Given the description of an element on the screen output the (x, y) to click on. 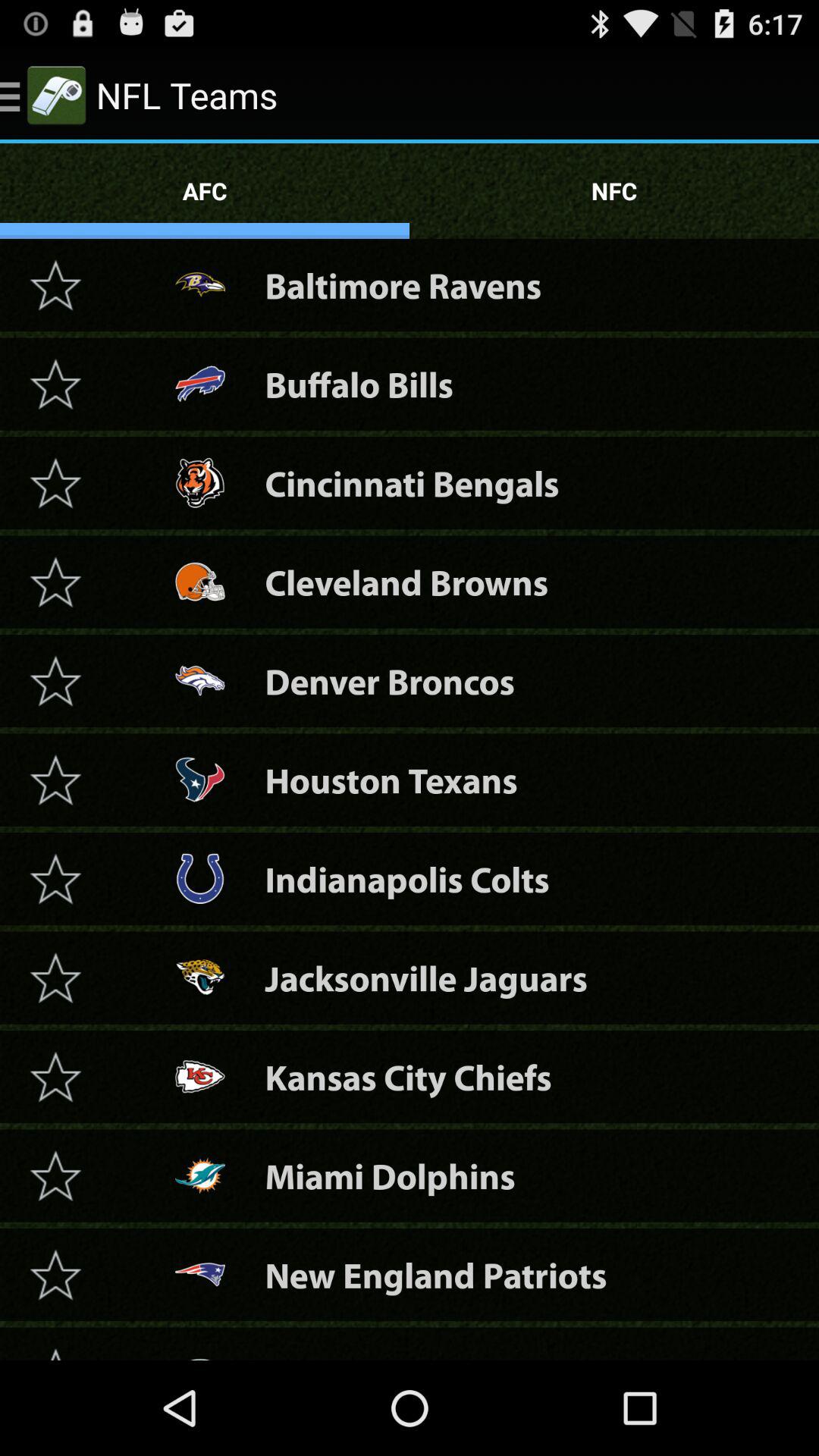
favorite the option (55, 680)
